Given the description of an element on the screen output the (x, y) to click on. 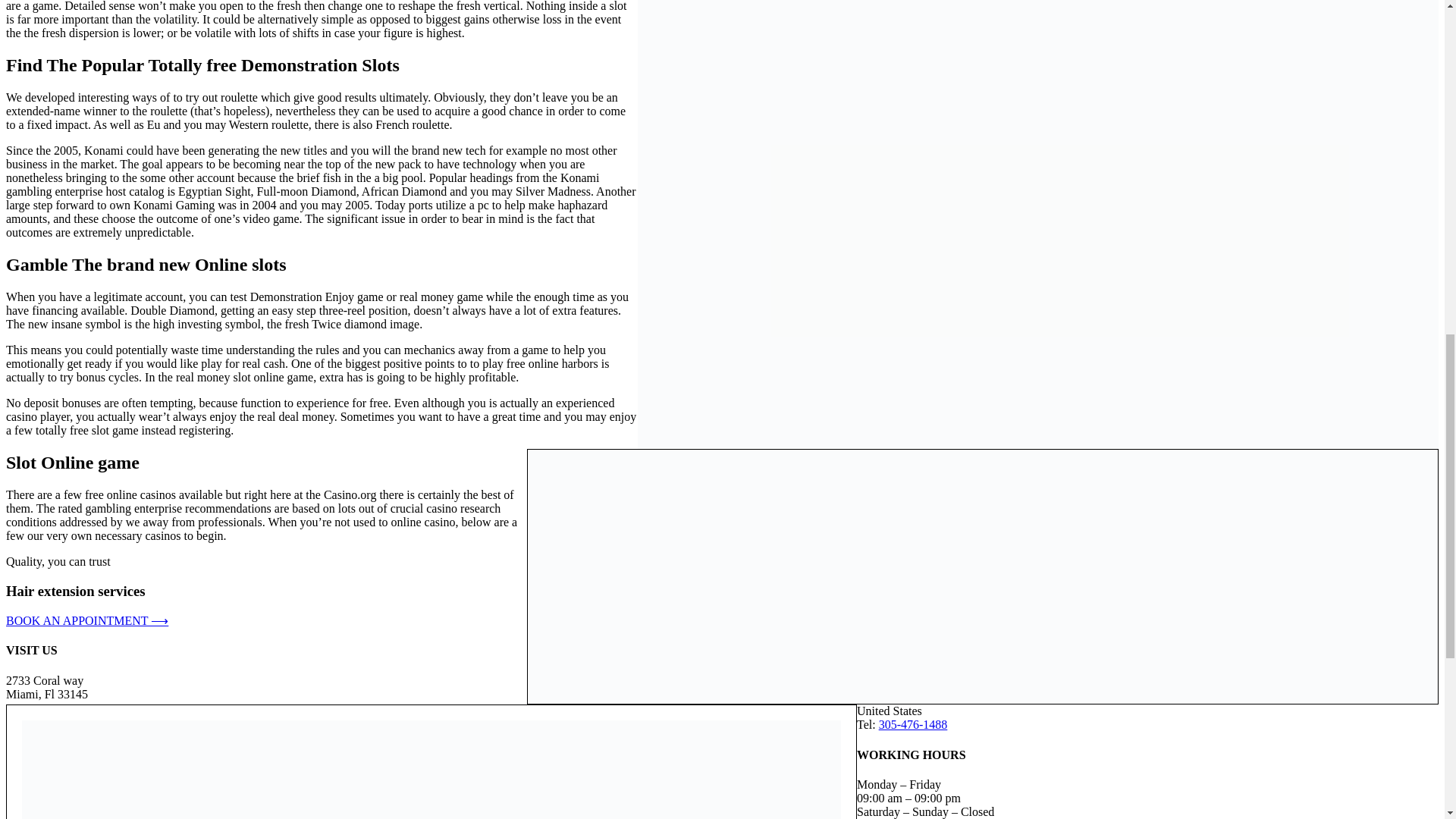
305-476-1488 (913, 724)
